Given the description of an element on the screen output the (x, y) to click on. 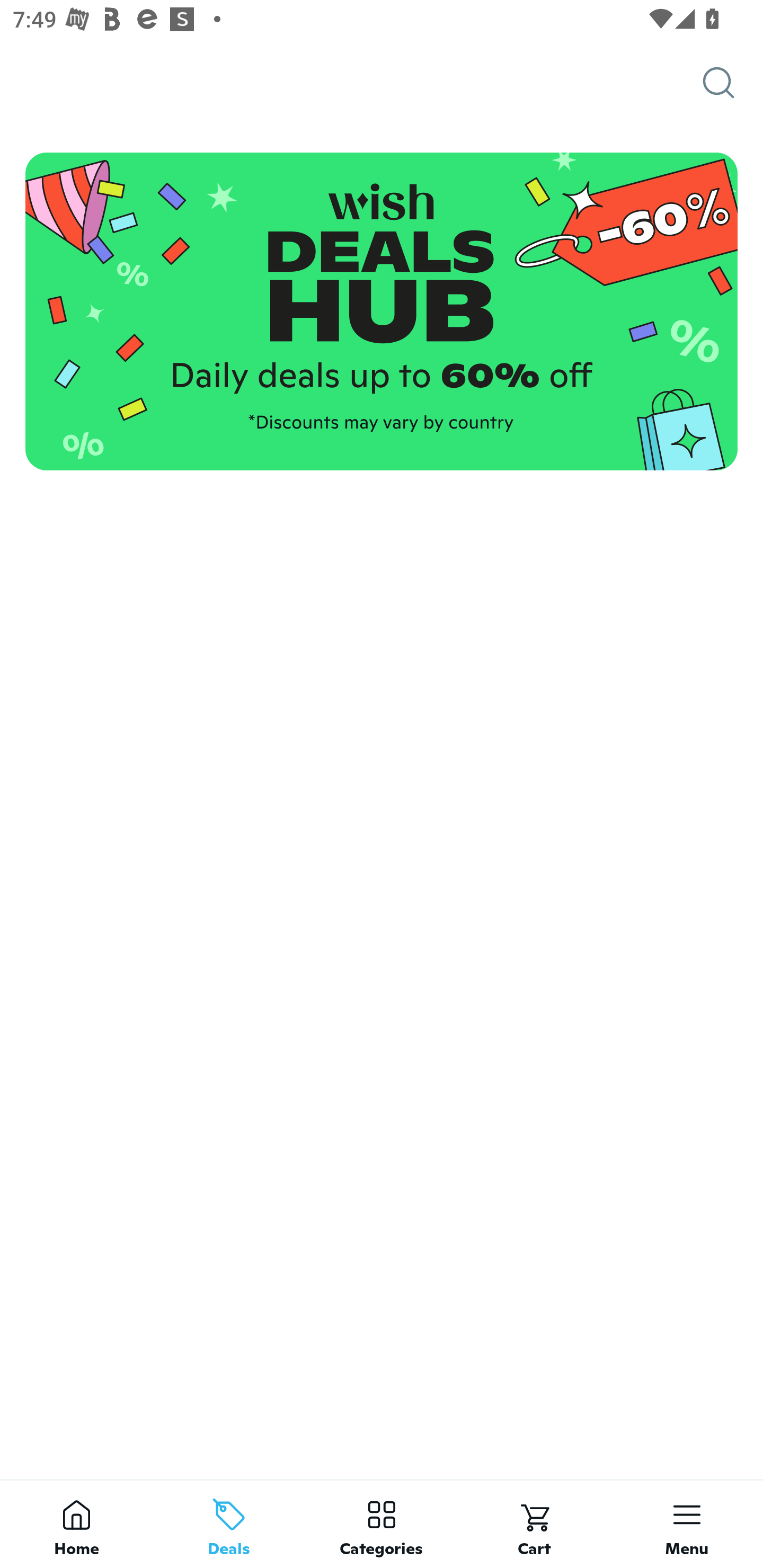
Search (732, 82)
Home (76, 1523)
Deals (228, 1523)
Categories (381, 1523)
Cart (533, 1523)
Menu (686, 1523)
